Given the description of an element on the screen output the (x, y) to click on. 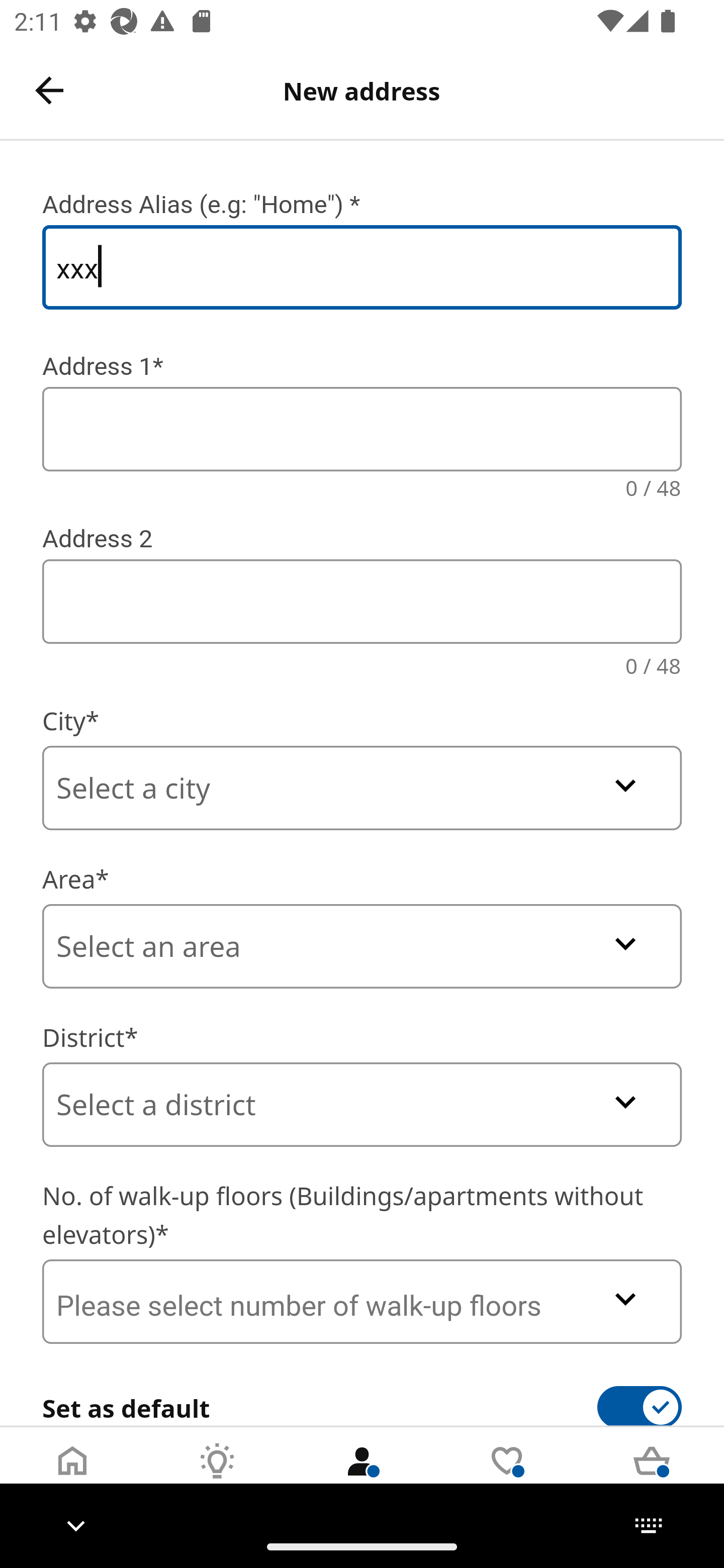
xxx (361, 266)
Select a city (361, 787)
Please select number of walk-up floors (361, 1301)
Home
Tab 1 of 5 (72, 1476)
Inspirations
Tab 2 of 5 (216, 1476)
User
Tab 3 of 5 (361, 1476)
Wishlist
Tab 4 of 5 (506, 1476)
Cart
Tab 5 of 5 (651, 1476)
